Given the description of an element on the screen output the (x, y) to click on. 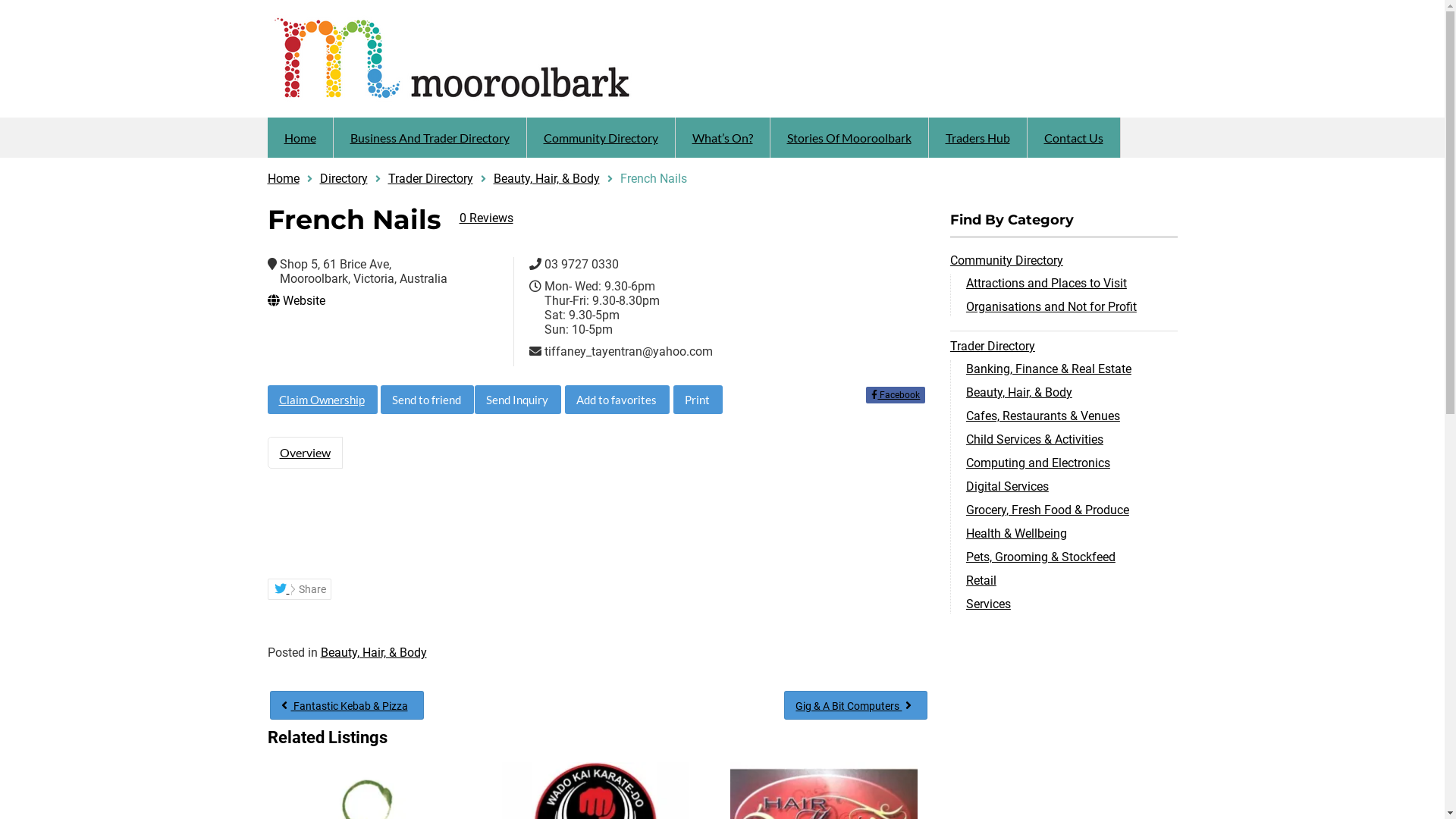
0 Reviews Element type: text (486, 218)
Organisations and Not for Profit Element type: text (1051, 306)
Mooroolbark Element type: hover (493, 57)
Services Element type: text (988, 603)
Facebook Element type: text (895, 394)
Contact Us Element type: text (1072, 137)
Trader Directory Element type: text (430, 178)
Beauty, Hair, & Body Element type: text (373, 652)
Beauty, Hair, & Body Element type: text (545, 178)
Beauty, Hair, & Body Element type: text (1019, 392)
Pets, Grooming & Stockfeed Element type: text (1040, 556)
Business And Trader Directory Element type: text (429, 137)
Stories Of Mooroolbark Element type: text (849, 137)
Grocery, Fresh Food & Produce Element type: text (1047, 509)
Community Directory Element type: text (600, 137)
Directory Element type: text (343, 178)
Add to favorites Element type: text (616, 399)
Computing and Electronics Element type: text (1038, 462)
Overview Element type: text (305, 452)
Send to friend Element type: text (426, 399)
Community Directory Element type: text (1006, 260)
Cafes, Restaurants & Venues Element type: text (1043, 415)
Retail Element type: text (981, 580)
Gig & A Bit Computers Element type: text (855, 704)
Digital Services Element type: text (1007, 486)
Home Element type: text (299, 137)
Send Inquiry Element type: text (517, 399)
Print Element type: text (697, 399)
Banking, Finance & Real Estate Element type: text (1048, 368)
Traders Hub Element type: text (977, 137)
Fantastic Kebab & Pizza Element type: text (346, 704)
Health & Wellbeing Element type: text (1016, 533)
Trader Directory Element type: text (992, 345)
Child Services & Activities Element type: text (1034, 439)
Share Element type: text (298, 588)
Home Element type: text (282, 178)
Claim Ownership Element type: text (321, 399)
Website Element type: text (350, 300)
Attractions and Places to Visit Element type: text (1046, 283)
